Given the description of an element on the screen output the (x, y) to click on. 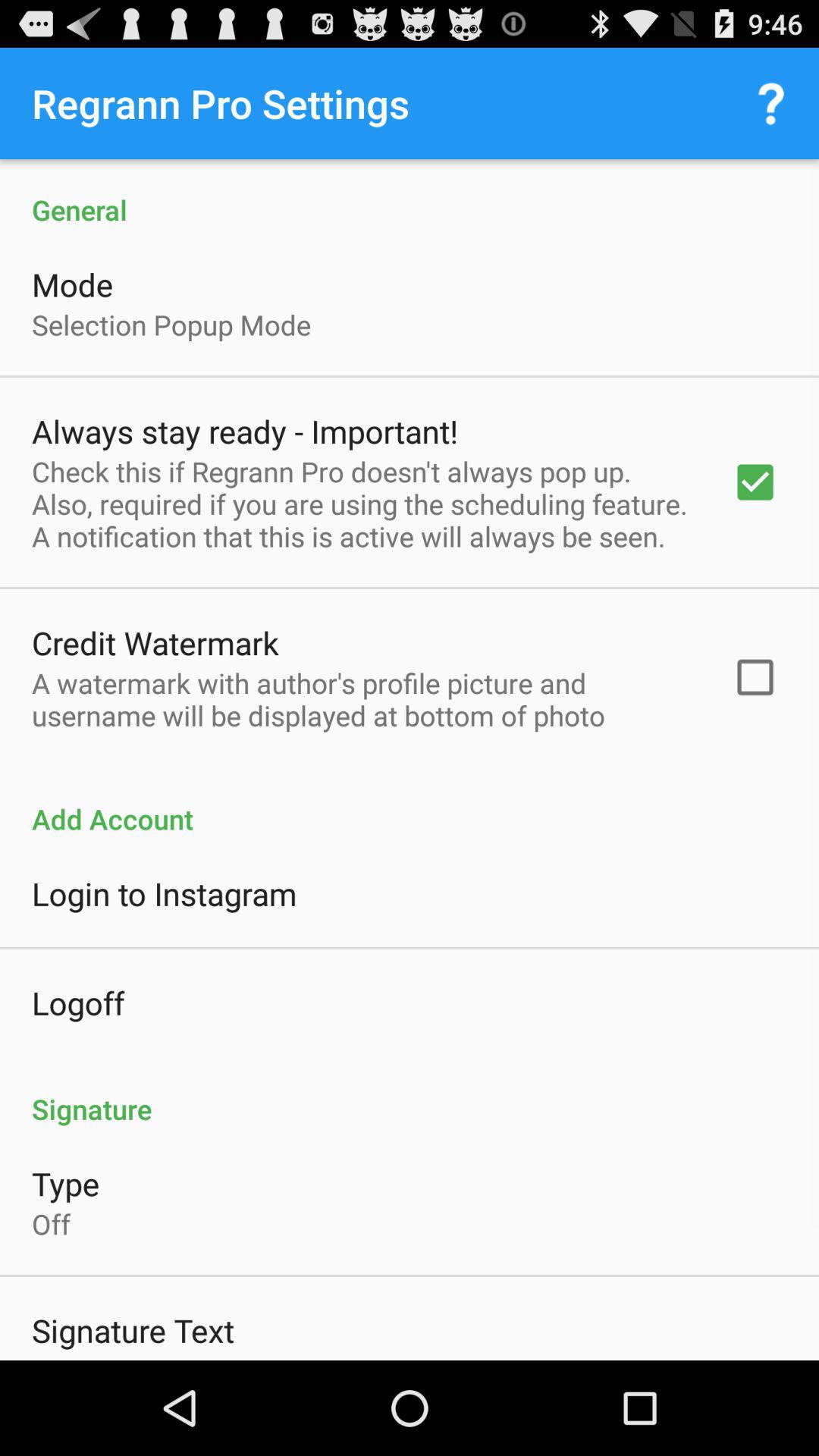
launch item at the top (409, 193)
